Given the description of an element on the screen output the (x, y) to click on. 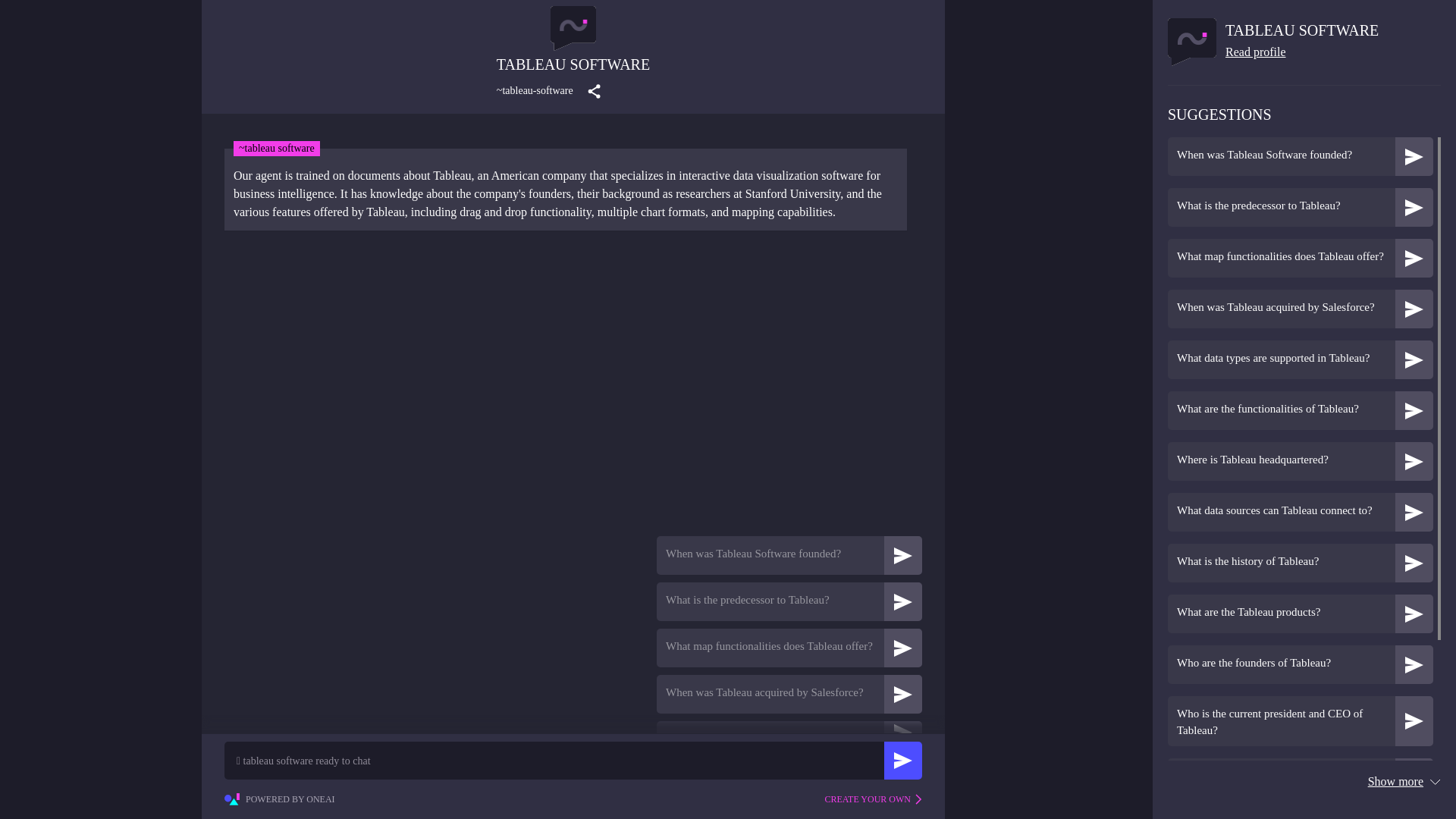
What are the functionalities of Tableau? (1299, 410)
tableau software (1301, 29)
What is the predecessor to Tableau? (788, 601)
What was Tableau's revenue in 2013? (1299, 777)
Where is Tableau headquartered? (1281, 459)
What is the predecessor to Tableau? (1299, 207)
What are the Tableau products? (1299, 613)
What data sources can Tableau connect to? (1299, 512)
What data types are supported in Tableau? (1281, 357)
CREATE YOUR OWN (872, 798)
What map functionalities does Tableau offer? (788, 647)
What map functionalities does Tableau offer? (770, 646)
What map functionalities does Tableau offer? (1299, 258)
What is the predecessor to Tableau? (1281, 205)
When was Tableau acquired by Salesforce? (1299, 308)
